Given the description of an element on the screen output the (x, y) to click on. 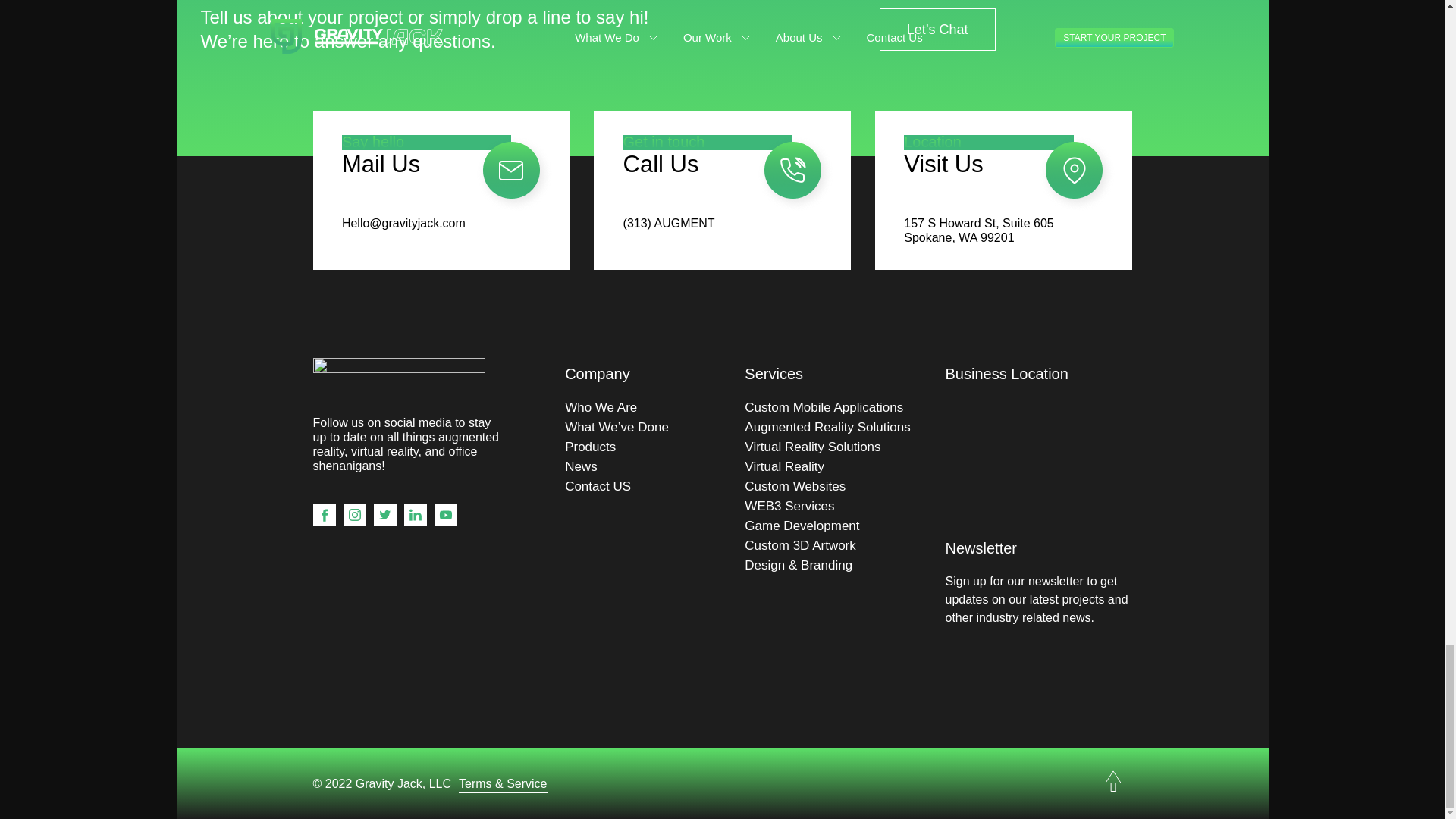
Follow on Facebook (323, 514)
Follow on Twitter (384, 514)
Follow on LinkedIn (414, 514)
Follow on Instagram (353, 514)
Follow on Youtube (445, 514)
